Given the description of an element on the screen output the (x, y) to click on. 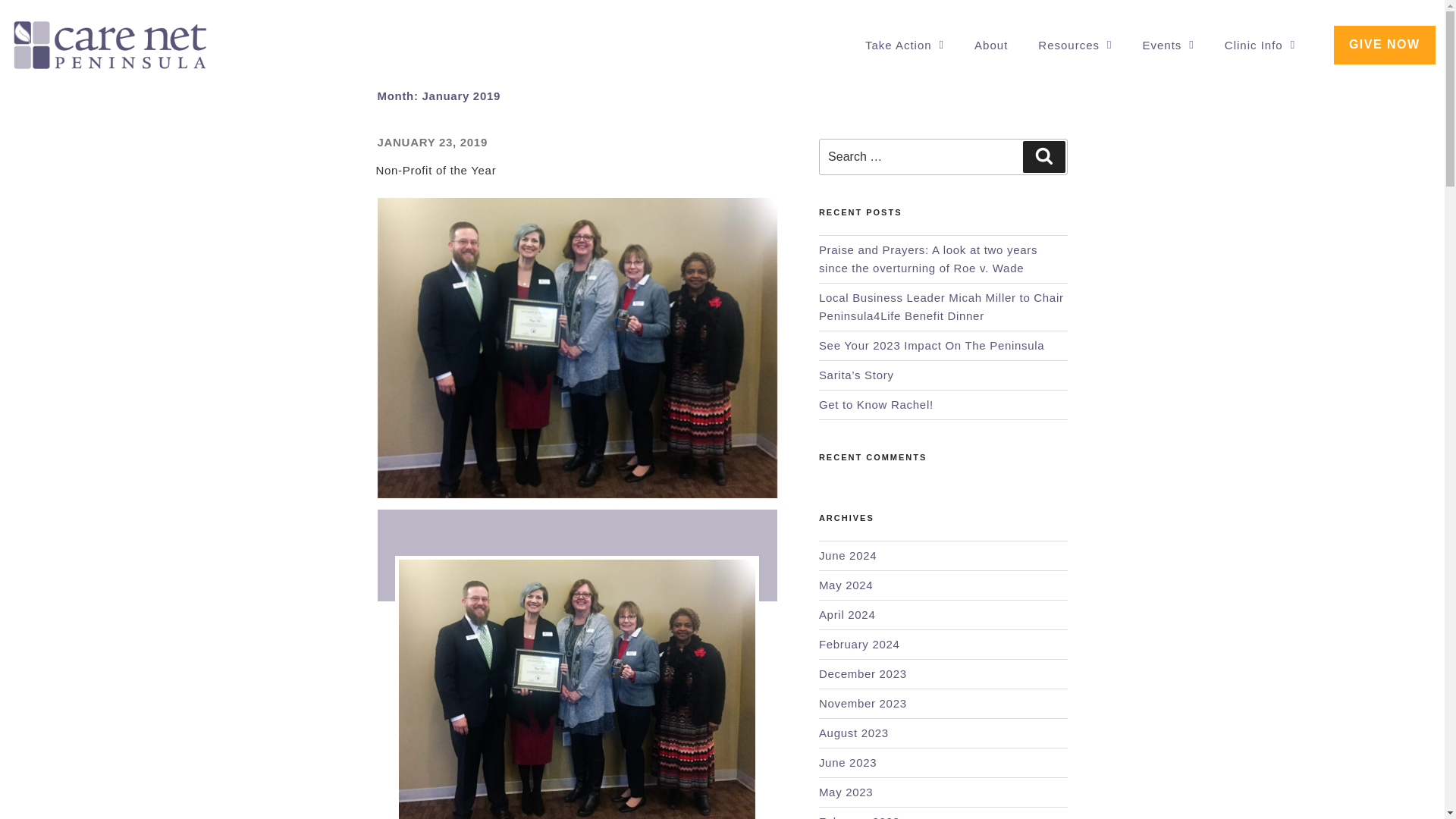
Events (1167, 45)
Resources (1074, 45)
Clinic Info (1260, 45)
Take Action (904, 45)
About (990, 45)
